Given the description of an element on the screen output the (x, y) to click on. 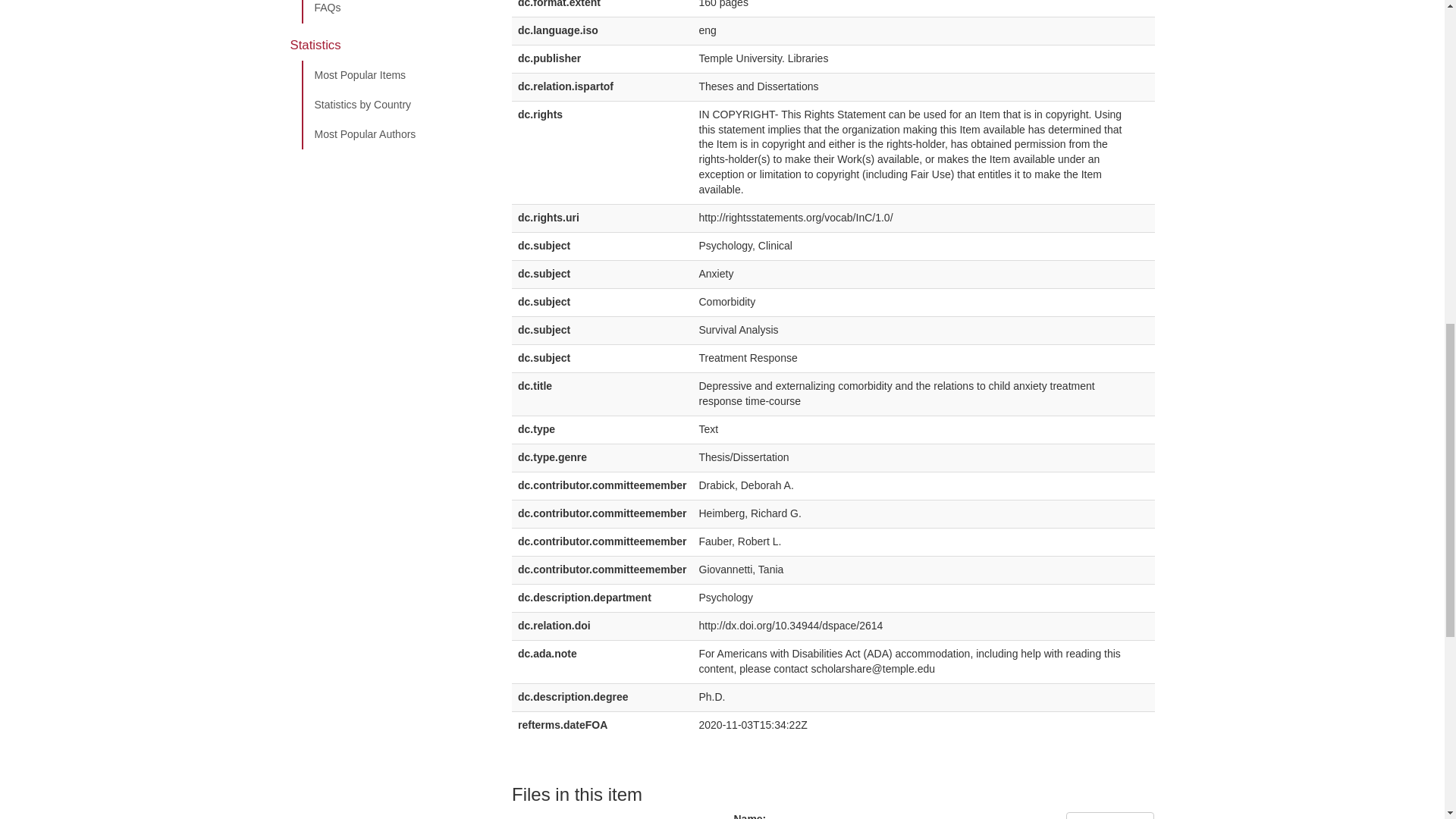
FAQs (395, 11)
Most Popular Items (395, 75)
Most Popular Authors (395, 134)
Statistics by Country (395, 105)
